Given the description of an element on the screen output the (x, y) to click on. 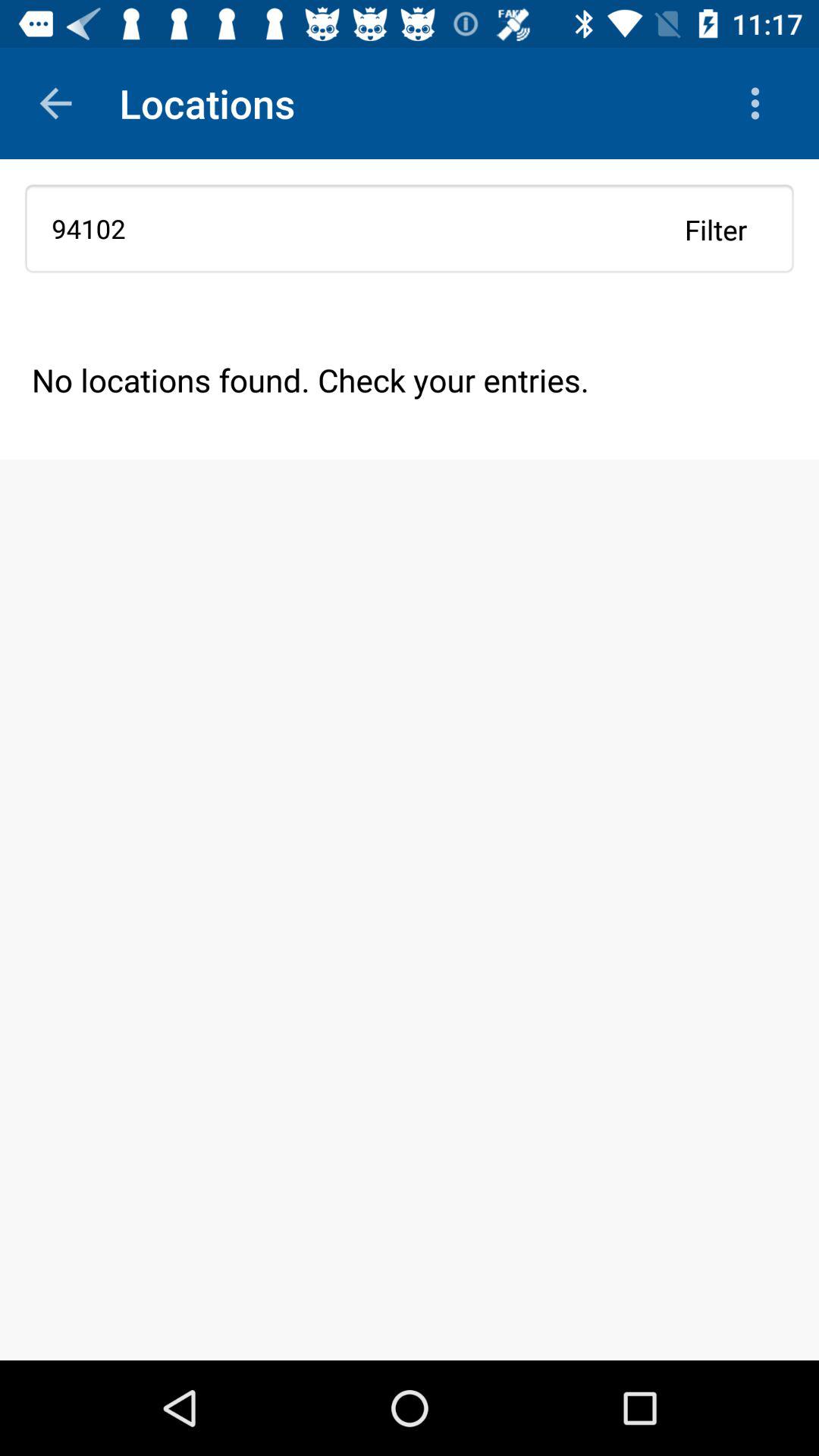
launch the item next to the locations (759, 103)
